Given the description of an element on the screen output the (x, y) to click on. 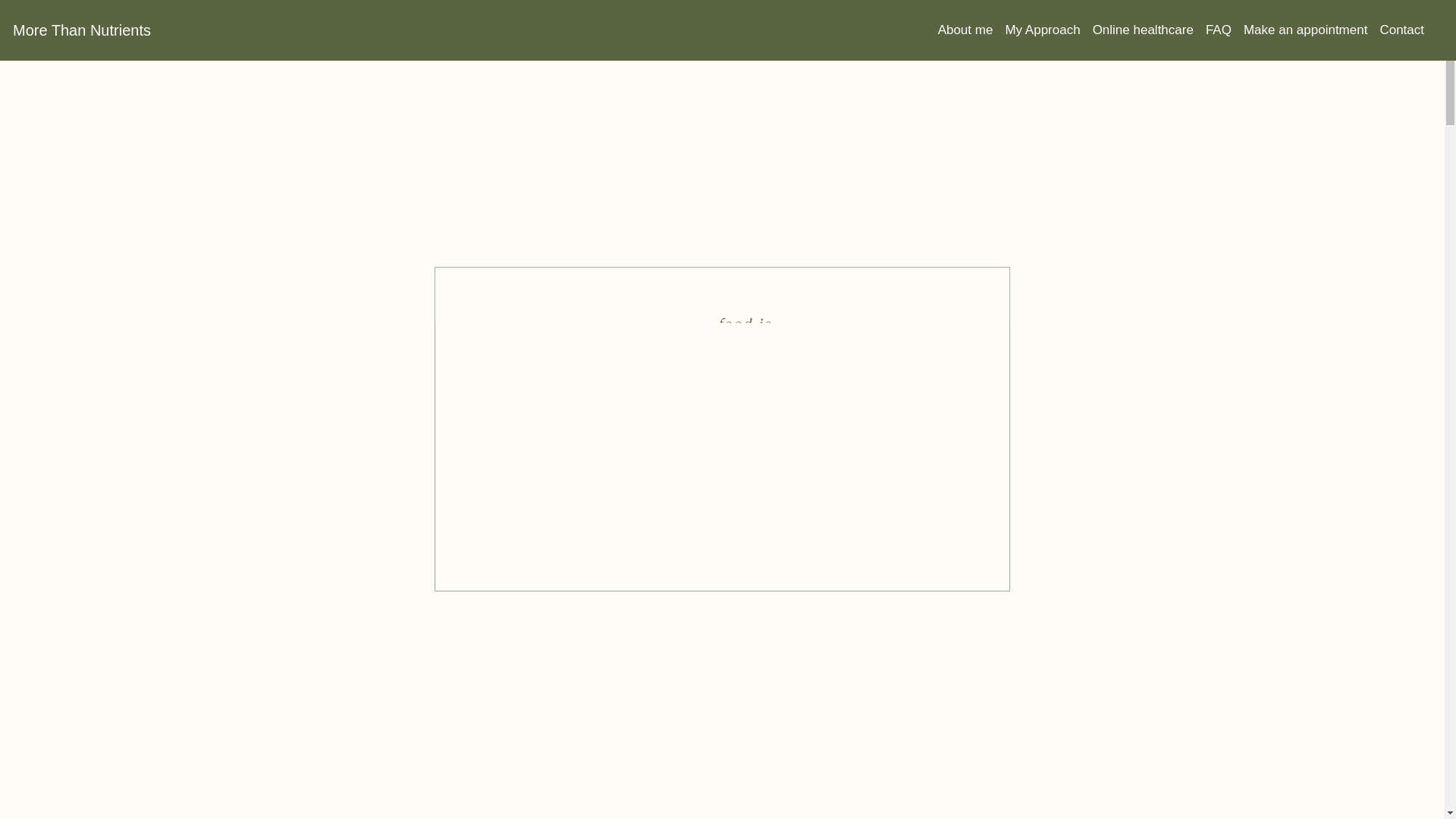
Contact (1407, 29)
Online healthcare (1149, 29)
Make an appointment (1312, 29)
More Than Nutrients (82, 30)
About me (971, 29)
My Approach (1048, 29)
